Given the description of an element on the screen output the (x, y) to click on. 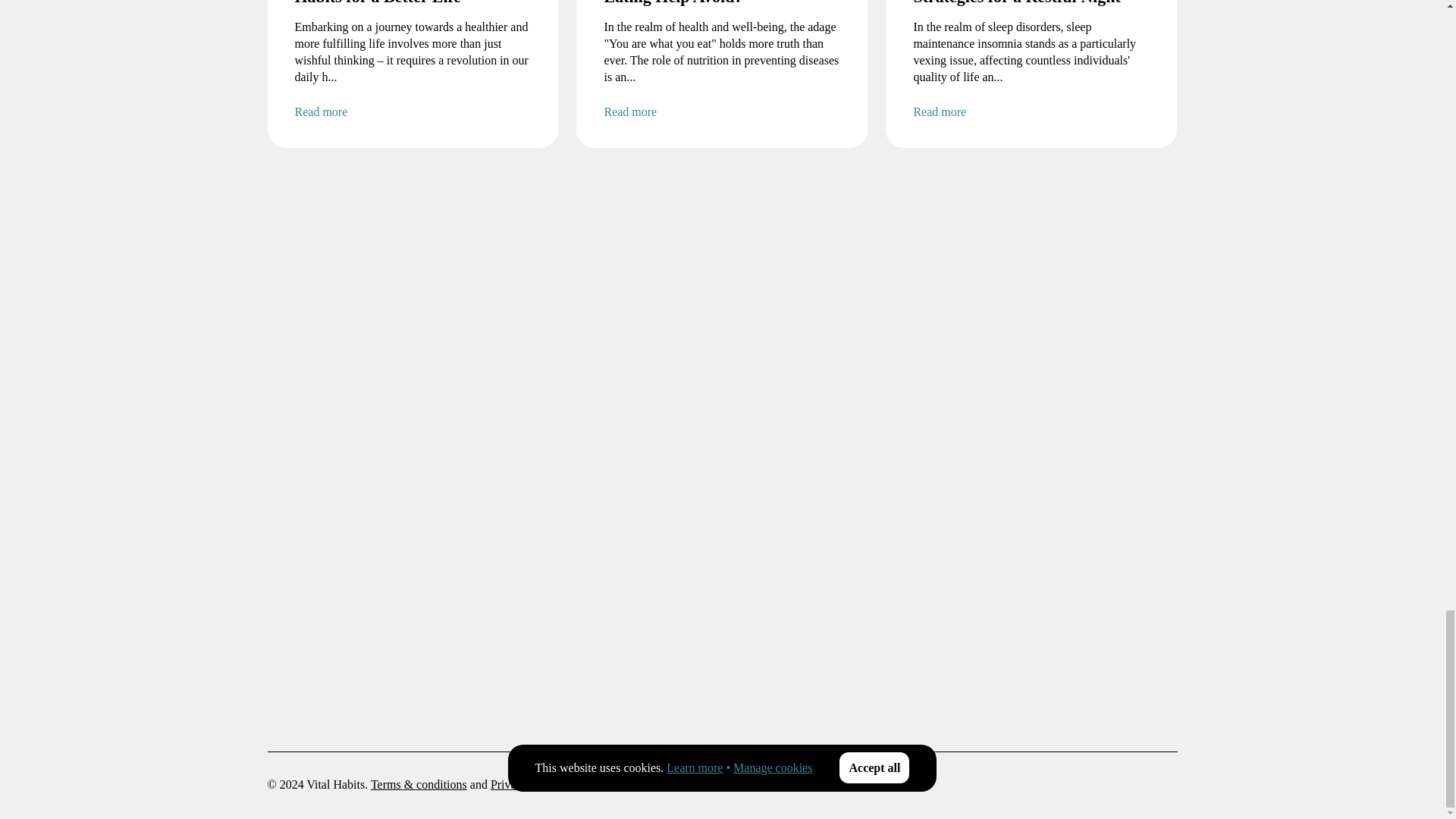
Read more (412, 112)
Lifestyle Revolution: 10 Good Habits for a Better Life (412, 3)
